Given the description of an element on the screen output the (x, y) to click on. 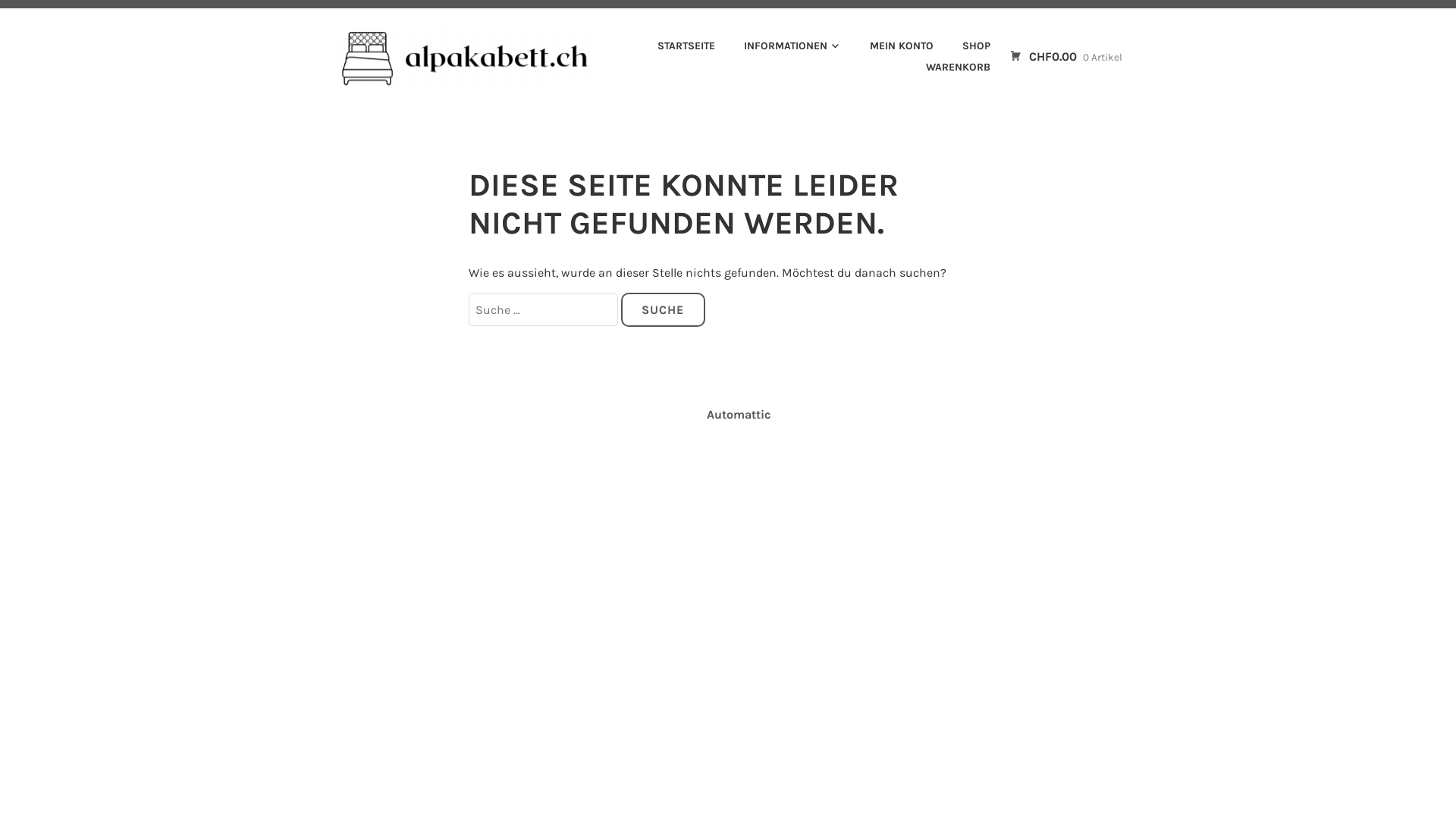
STARTSEITE Element type: text (673, 45)
CHF0.00 0 Artikel Element type: text (1065, 56)
SHOP Element type: text (963, 45)
ALPAKABETT.CH Element type: text (450, 102)
WARENKORB Element type: text (945, 67)
Suche Element type: text (662, 309)
MEIN KONTO Element type: text (889, 45)
INFORMATIONEN Element type: text (779, 45)
Automattic Element type: text (738, 414)
